Given the description of an element on the screen output the (x, y) to click on. 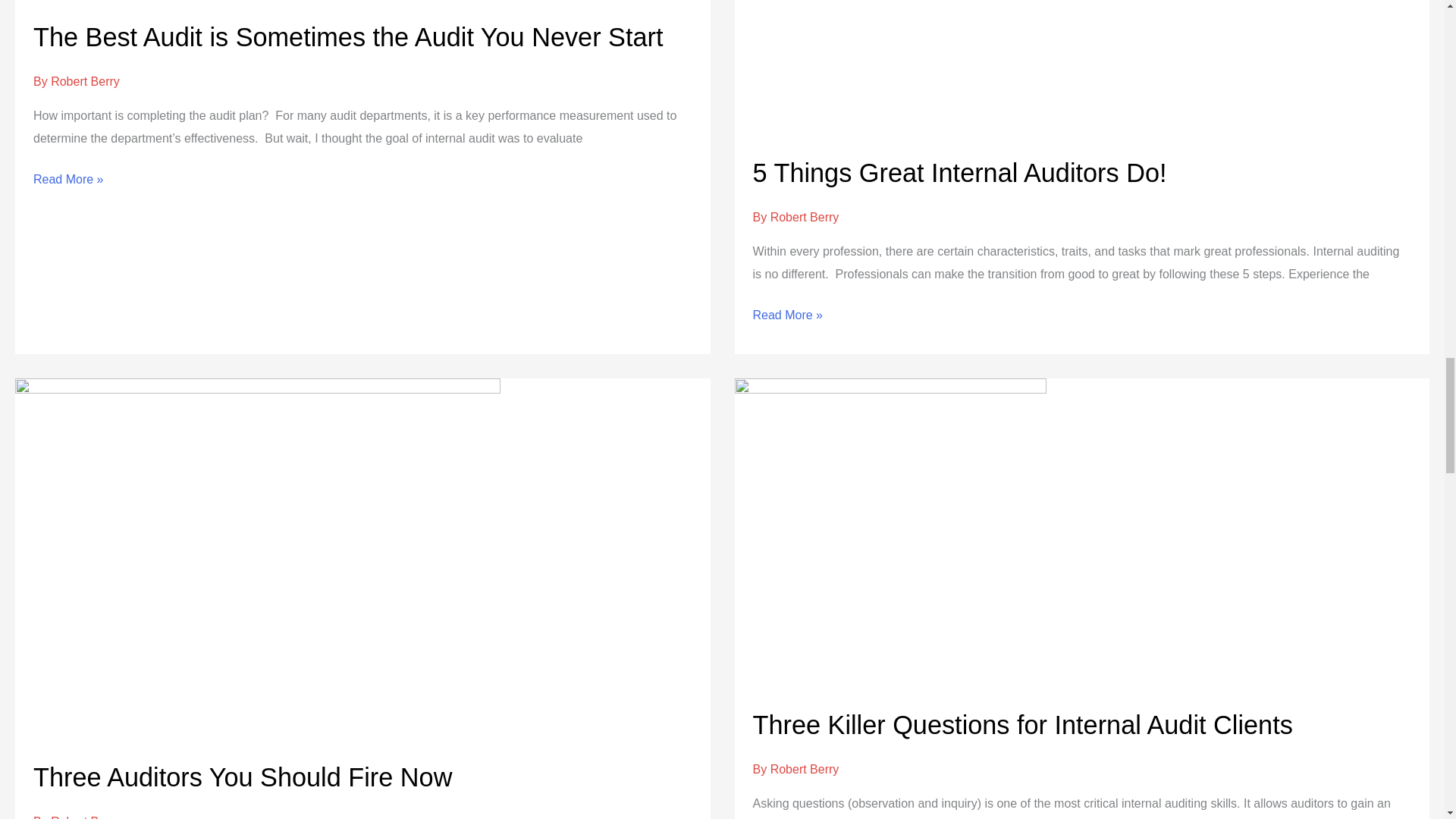
View all posts by Robert Berry (805, 768)
View all posts by Robert Berry (84, 816)
View all posts by Robert Berry (805, 216)
View all posts by Robert Berry (84, 81)
